Given the description of an element on the screen output the (x, y) to click on. 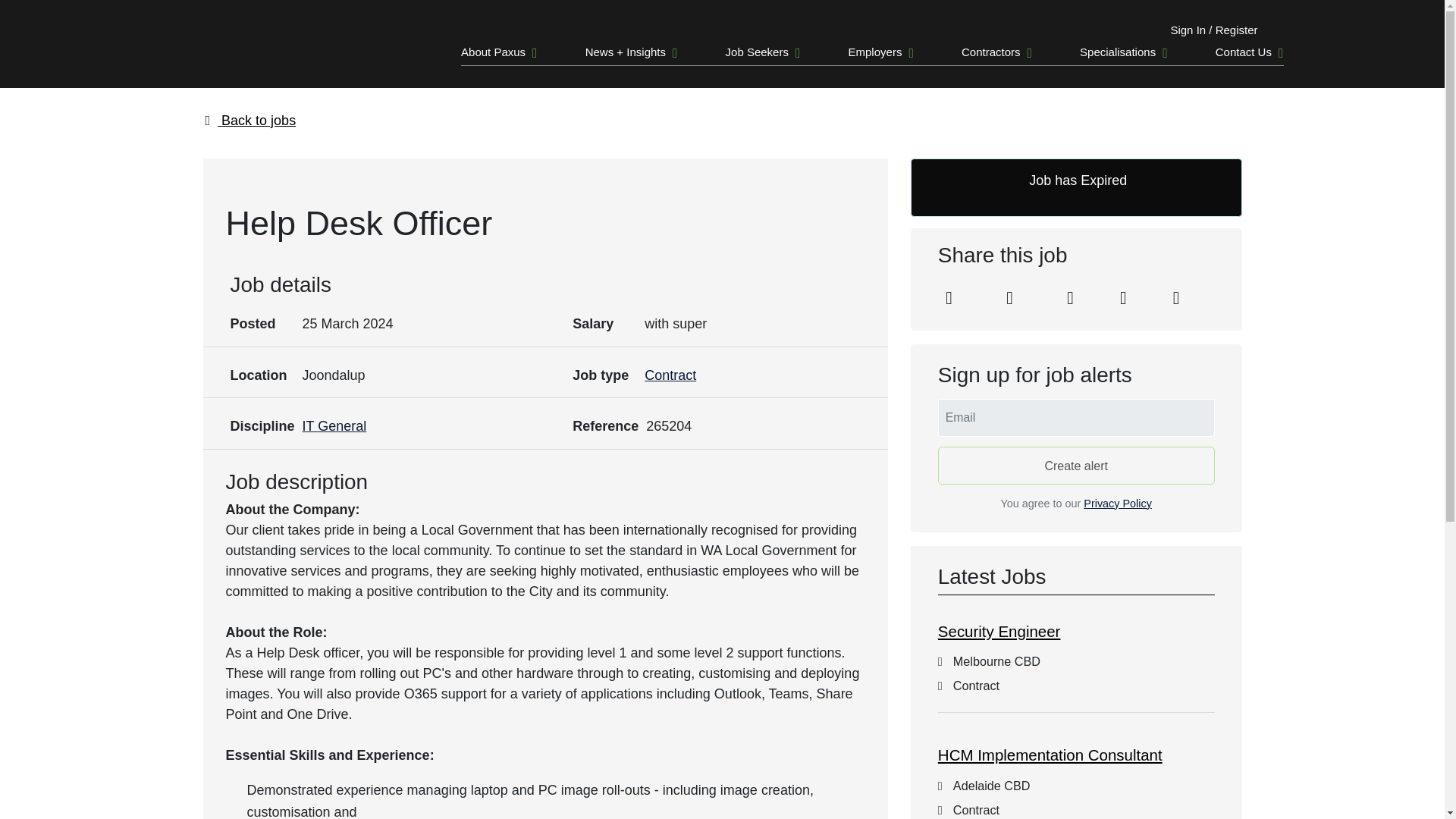
Contractors (990, 51)
Employers (875, 51)
Specialisations (1118, 51)
Job Seekers (757, 51)
About Paxus (493, 51)
Paxus Homepage (240, 57)
